Given the description of an element on the screen output the (x, y) to click on. 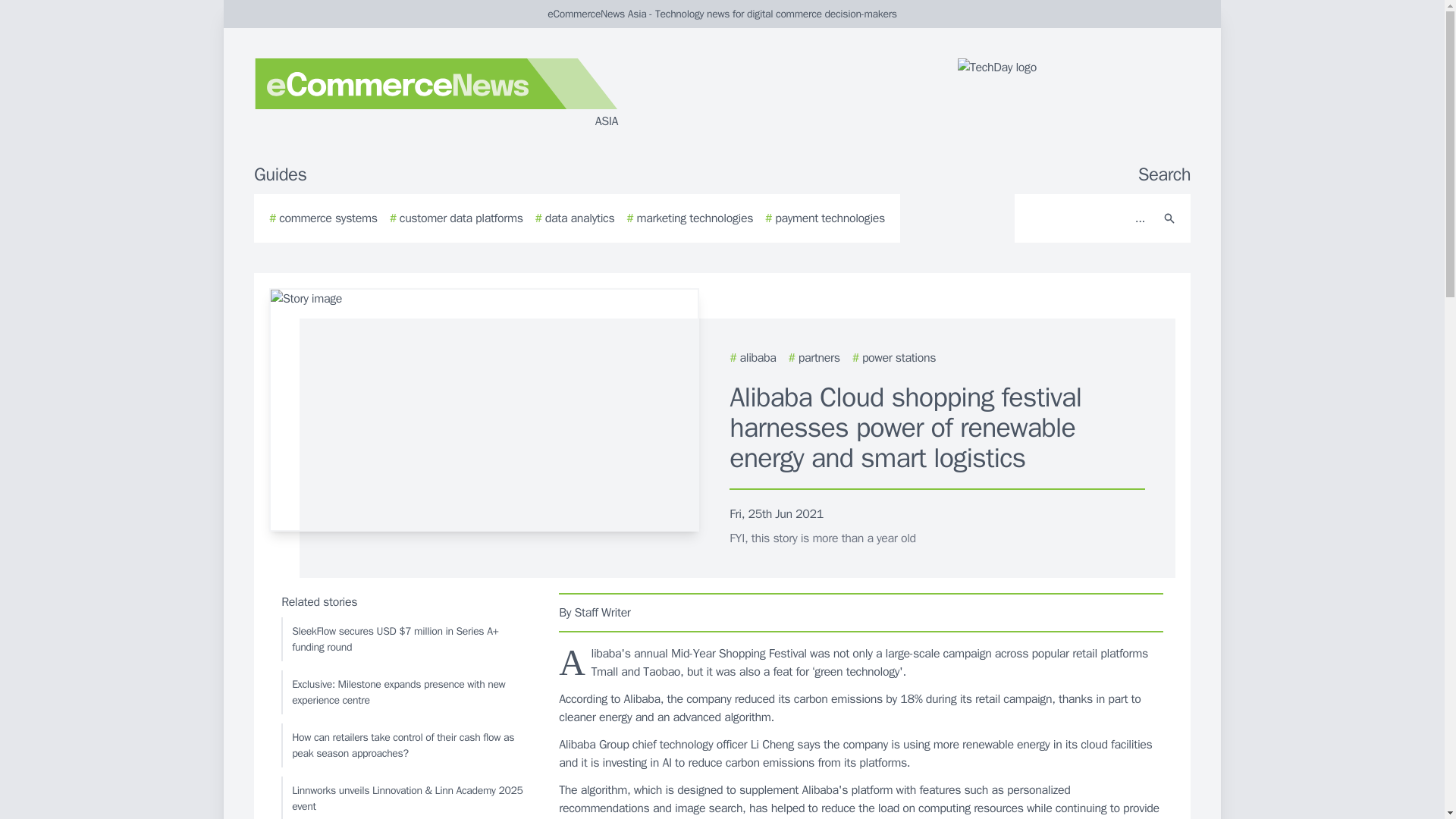
By Staff Writer (861, 612)
ASIA (435, 94)
